Given the description of an element on the screen output the (x, y) to click on. 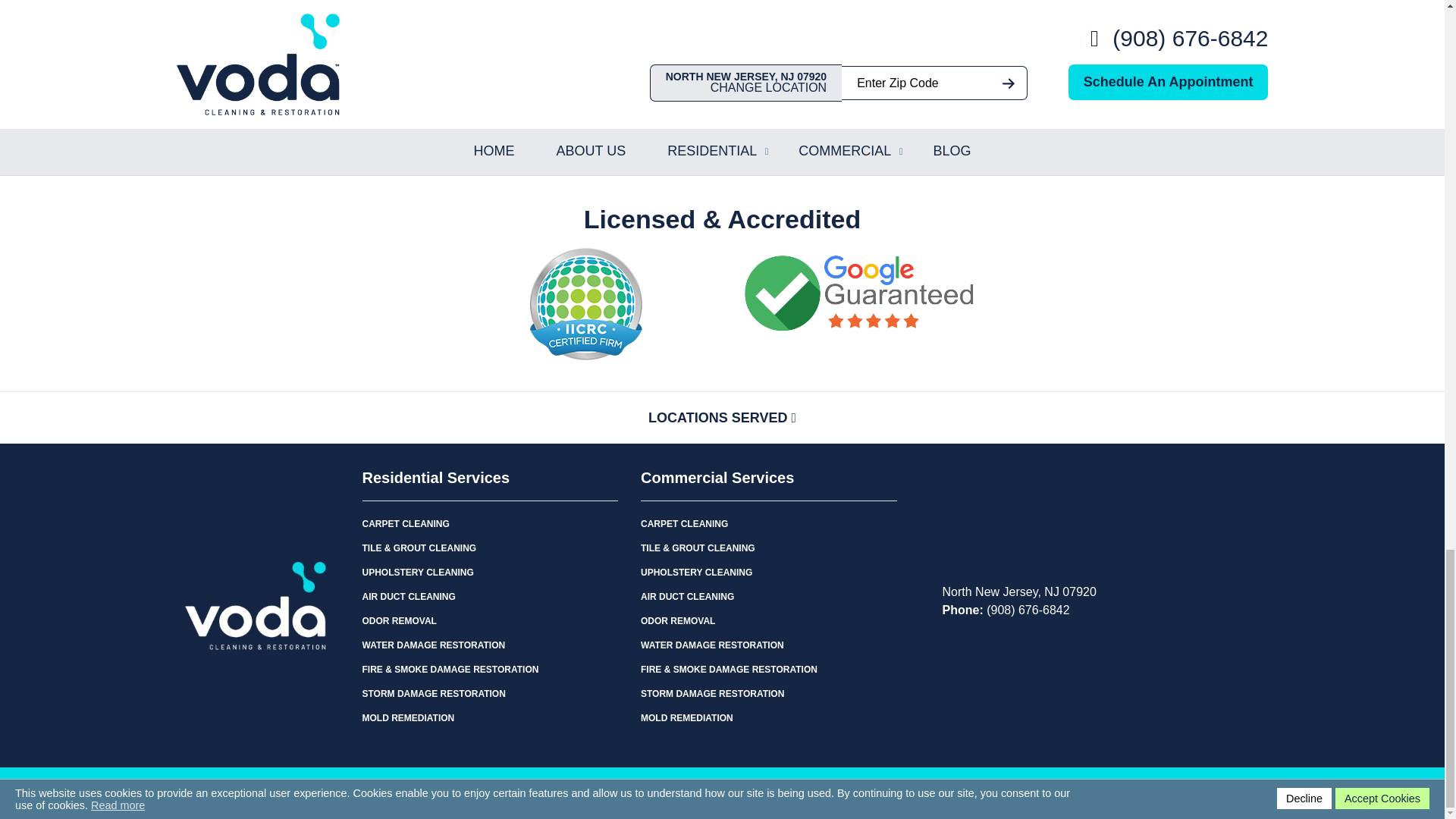
Subscribe (926, 128)
Subscribe (926, 128)
